Given the description of an element on the screen output the (x, y) to click on. 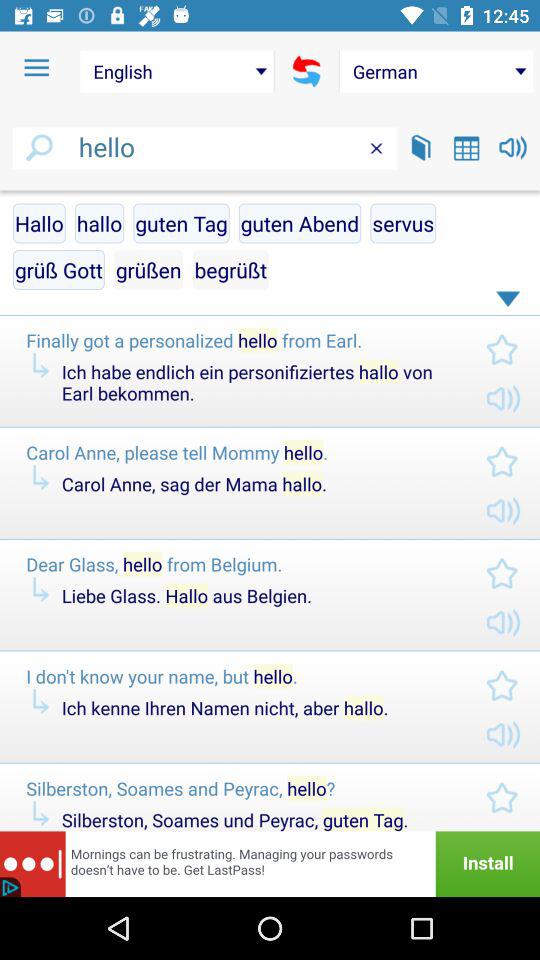
on the speaker (512, 147)
